Given the description of an element on the screen output the (x, y) to click on. 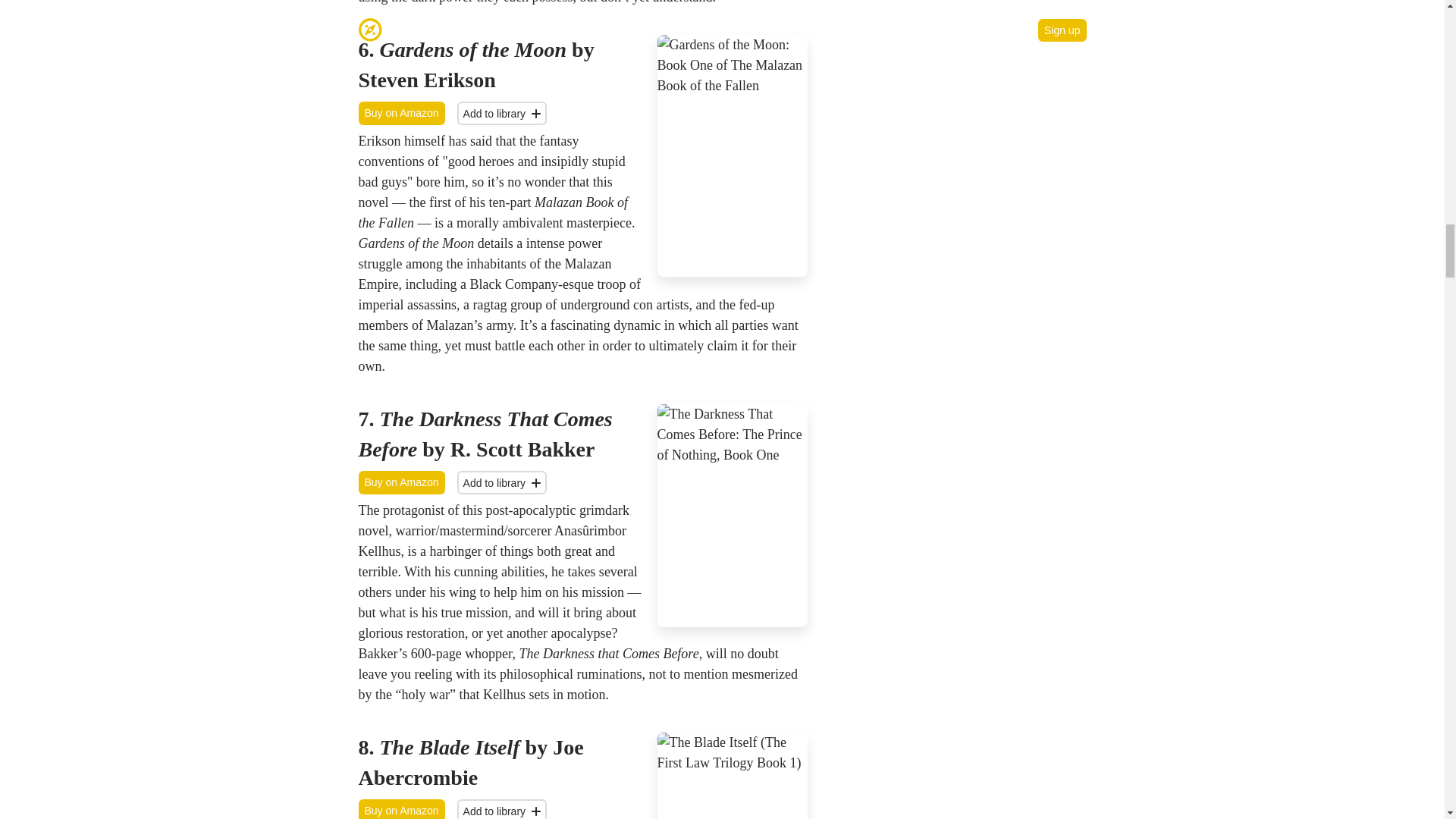
Buy on Amazon (401, 113)
Buy on Amazon (401, 482)
Buy on Amazon (401, 809)
Add to library (502, 809)
Add to library (502, 113)
Add to library (502, 482)
